Given the description of an element on the screen output the (x, y) to click on. 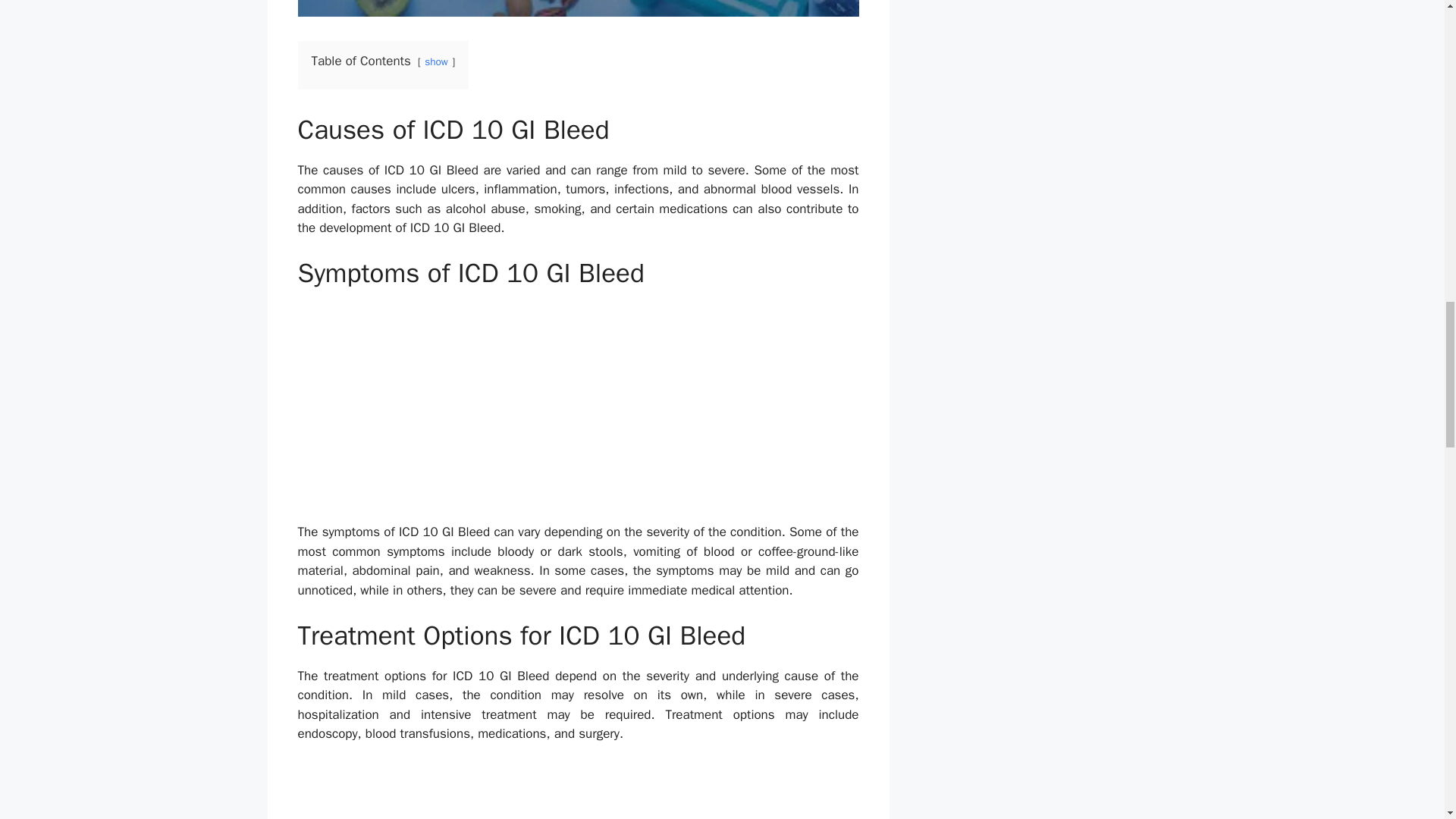
show (436, 61)
Advertisement (578, 790)
Advertisement (578, 409)
